Given the description of an element on the screen output the (x, y) to click on. 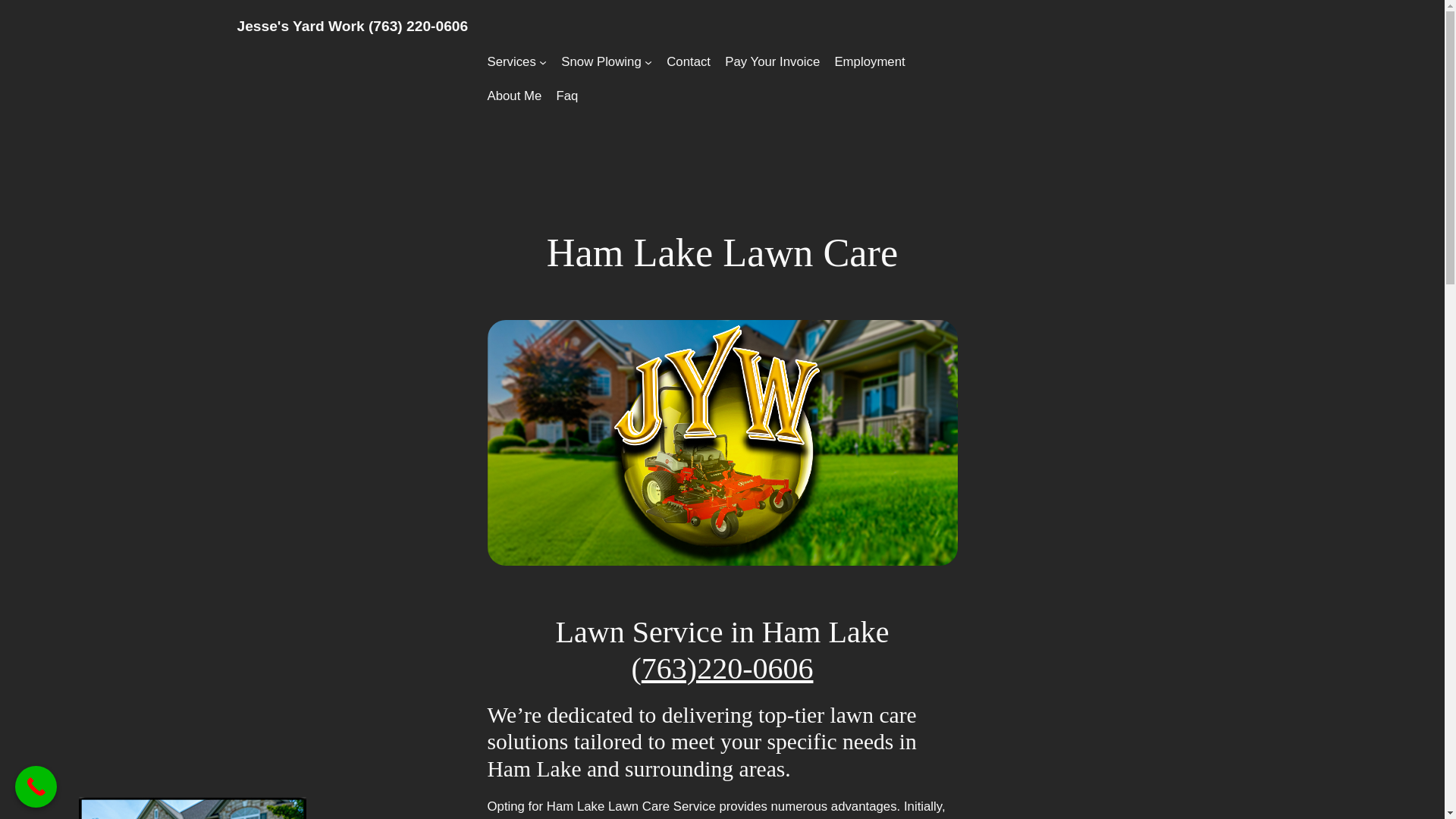
Services (510, 62)
